Given the description of an element on the screen output the (x, y) to click on. 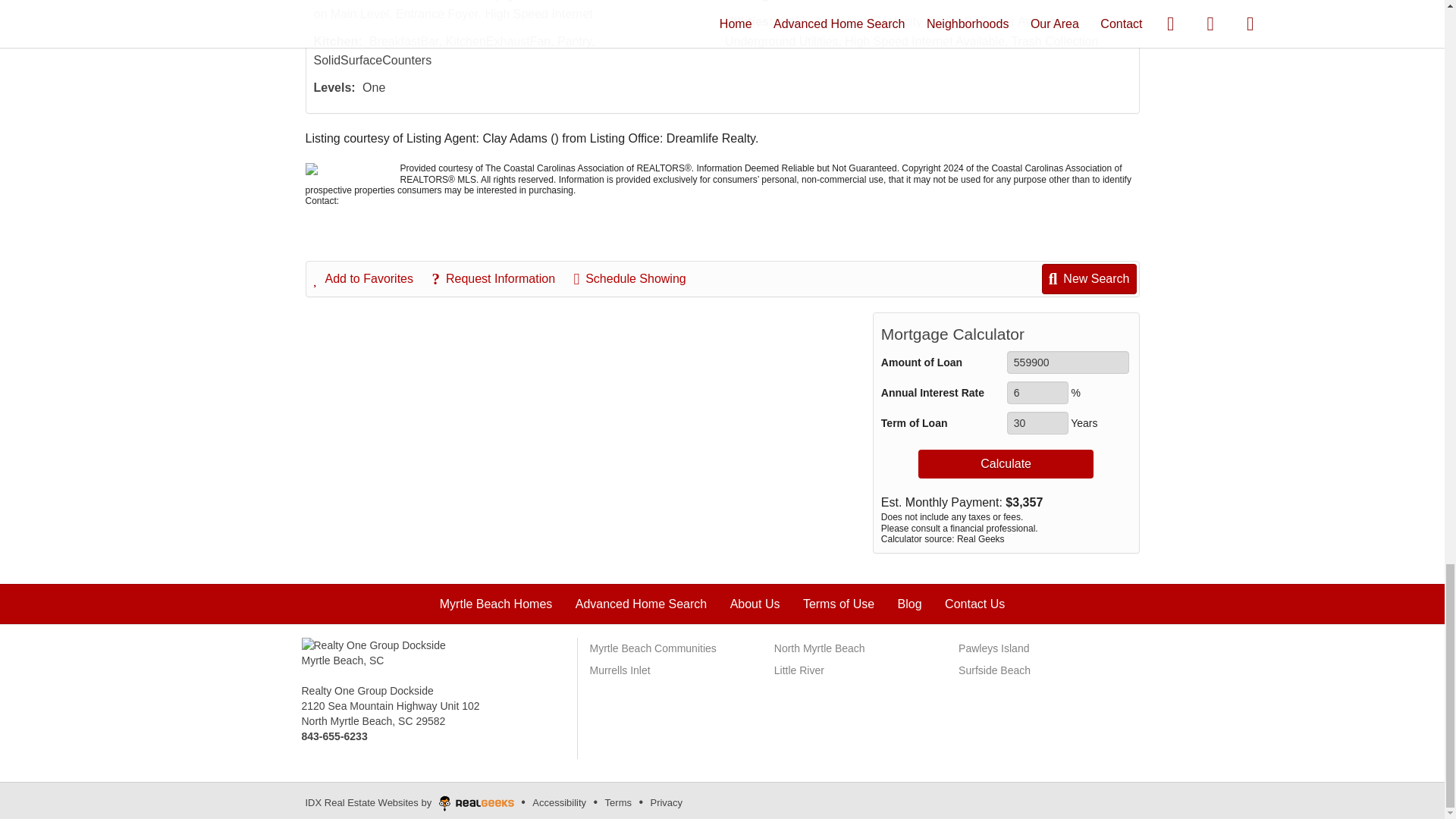
30 (1037, 422)
6 (1037, 392)
559900 (1068, 362)
